Given the description of an element on the screen output the (x, y) to click on. 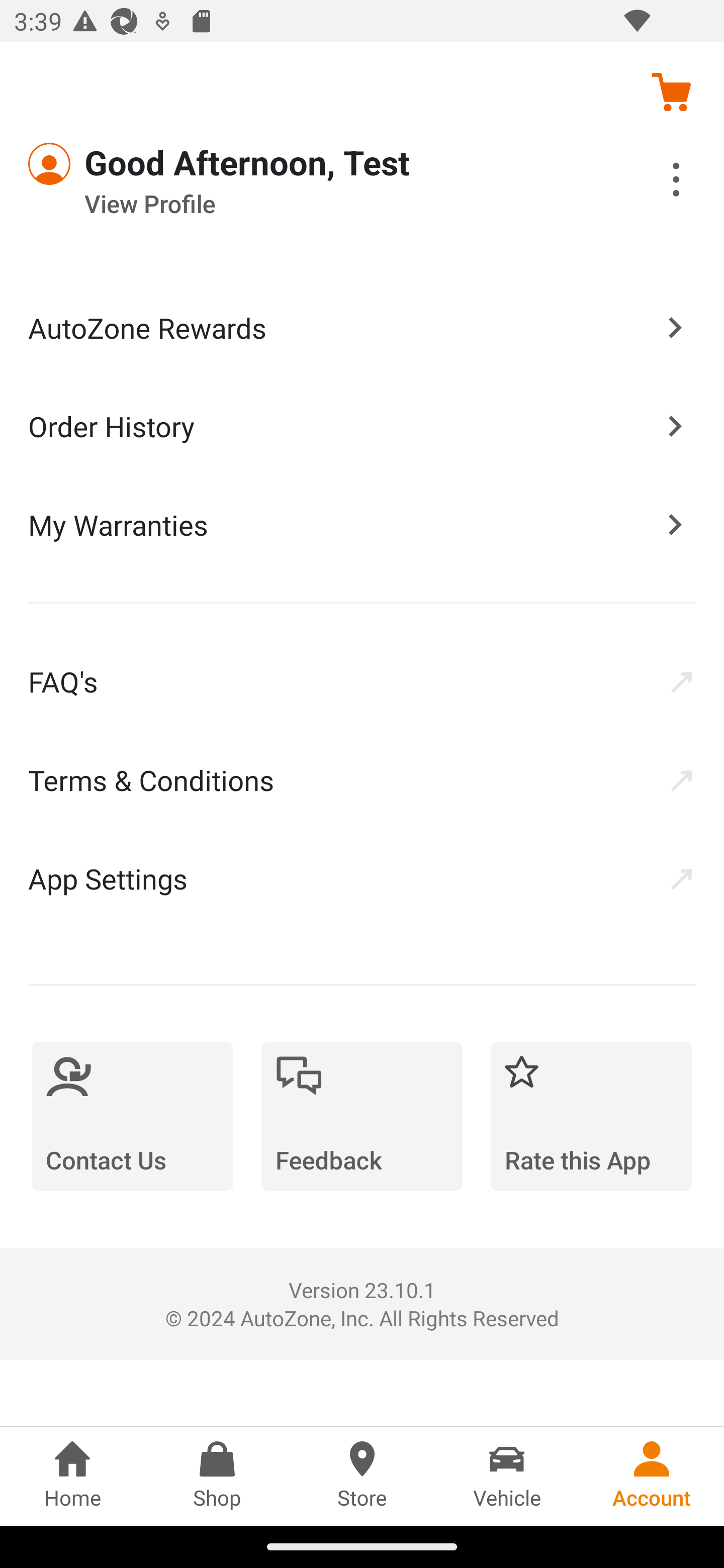
Cart, no items  (670, 91)
Good  (100, 163)
︙ (654, 182)
View Profile (306, 203)
AutoZone Rewards  (361, 327)
Order History  (361, 425)
My Warranties  (361, 524)
FAQ's  (361, 680)
Terms & Conditions  (361, 779)
App Settings  (361, 878)
Contact Us (132, 1116)
Feedback (361, 1116)
Rate this App (591, 1116)
Home (72, 1475)
Shop (216, 1475)
Store (361, 1475)
Vehicle (506, 1475)
Account (651, 1475)
